Given the description of an element on the screen output the (x, y) to click on. 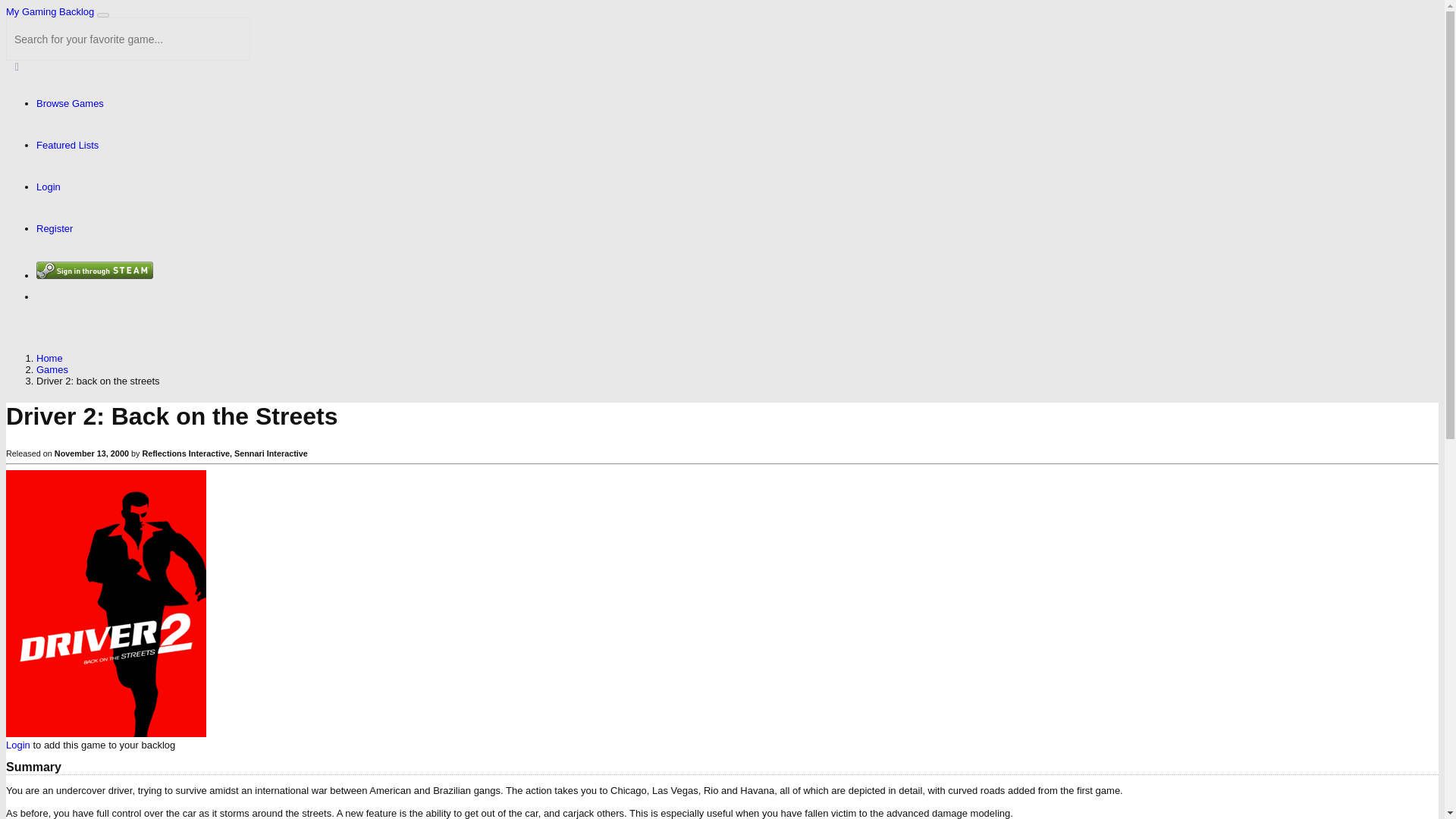
Games (52, 369)
Home (49, 357)
Login (17, 745)
My Gaming Backlog (49, 11)
